Given the description of an element on the screen output the (x, y) to click on. 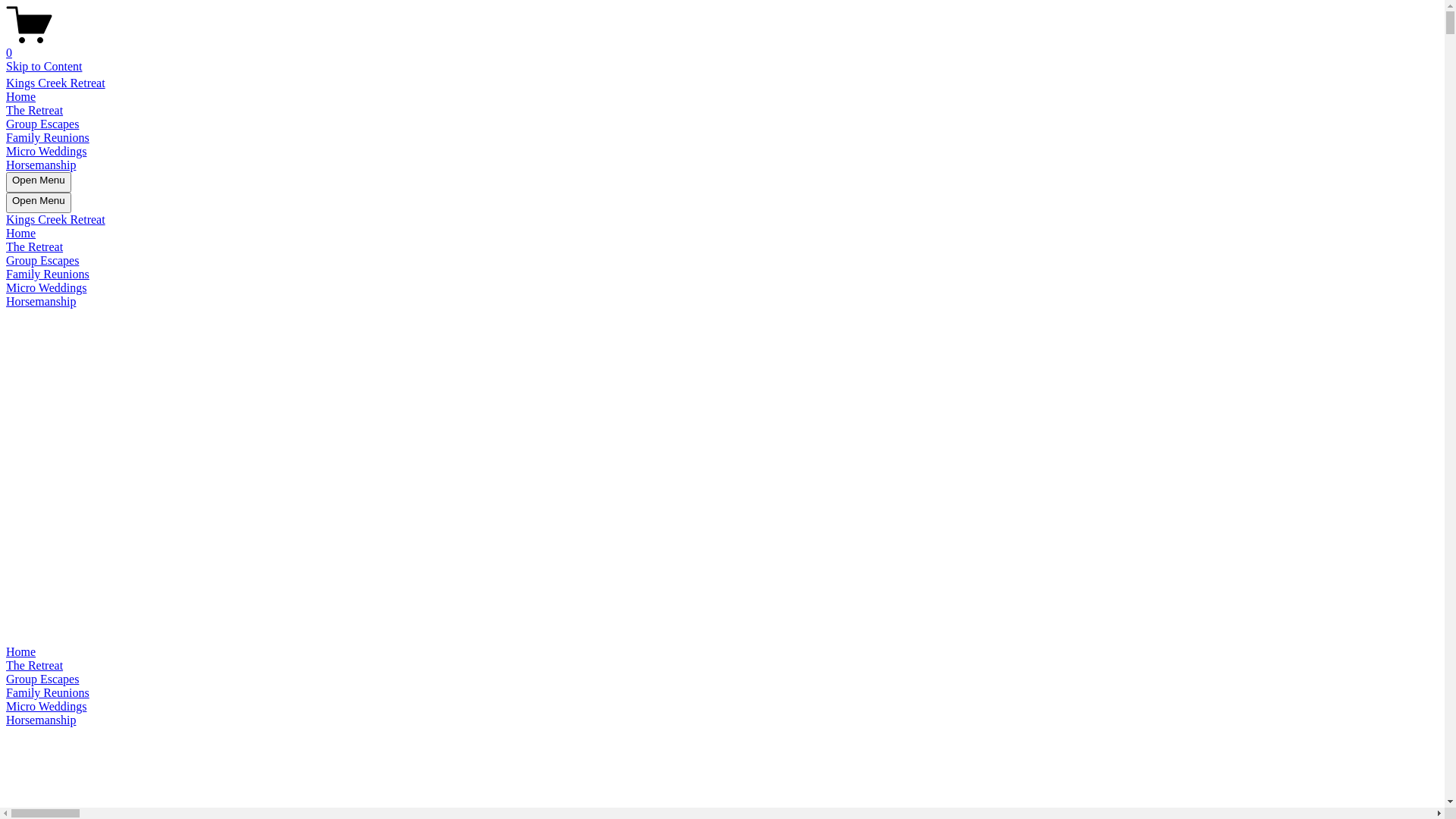
Horsemanship Element type: text (40, 300)
The Retreat Element type: text (34, 109)
Micro Weddings Element type: text (46, 287)
Kings Creek Retreat Element type: text (55, 219)
Group Escapes Element type: text (42, 260)
Family Reunions Element type: text (47, 137)
Home Element type: text (722, 651)
Home Element type: text (20, 232)
Micro Weddings Element type: text (722, 706)
Family Reunions Element type: text (722, 692)
Home Element type: text (20, 96)
Family Reunions Element type: text (47, 273)
Micro Weddings Element type: text (46, 150)
0 Element type: text (722, 45)
Group Escapes Element type: text (722, 679)
Group Escapes Element type: text (42, 123)
Kings Creek Retreat Element type: text (55, 82)
The Retreat Element type: text (34, 246)
Horsemanship Element type: text (722, 720)
Horsemanship Element type: text (40, 164)
Open Menu Element type: text (38, 202)
Open Menu Element type: text (38, 182)
The Retreat Element type: text (722, 665)
Skip to Content Element type: text (43, 65)
